Given the description of an element on the screen output the (x, y) to click on. 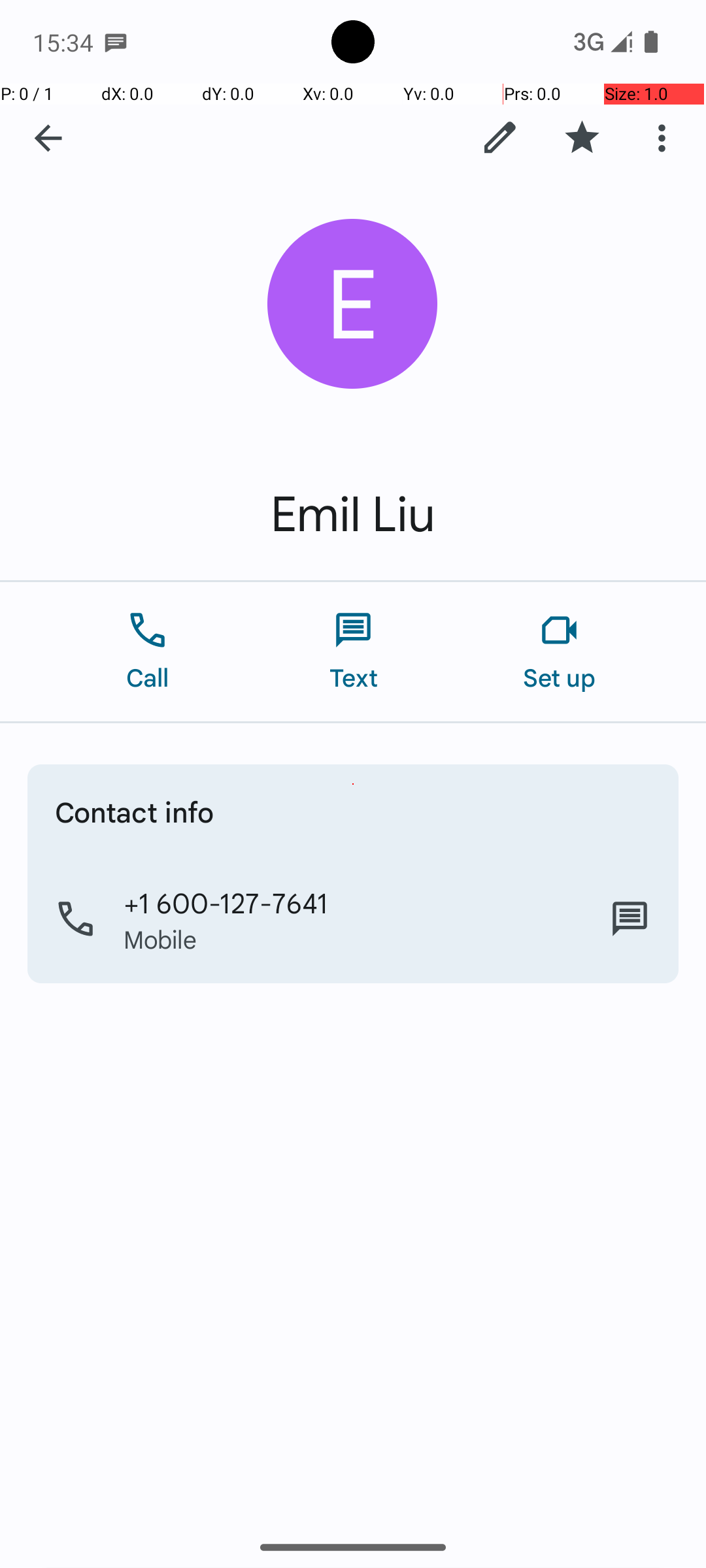
Set up Element type: android.widget.TextView (559, 651)
Emil Liu Element type: android.widget.TextView (352, 514)
Call Mobile +1 600-127-7641 Element type: android.widget.RelativeLayout (352, 919)
+1 600-127-7641 Element type: android.widget.TextView (225, 901)
Text Mobile +1 600-127-7641 Element type: android.widget.Button (629, 919)
SMS Messenger notification: Martin Chen Element type: android.widget.ImageView (115, 41)
